Given the description of an element on the screen output the (x, y) to click on. 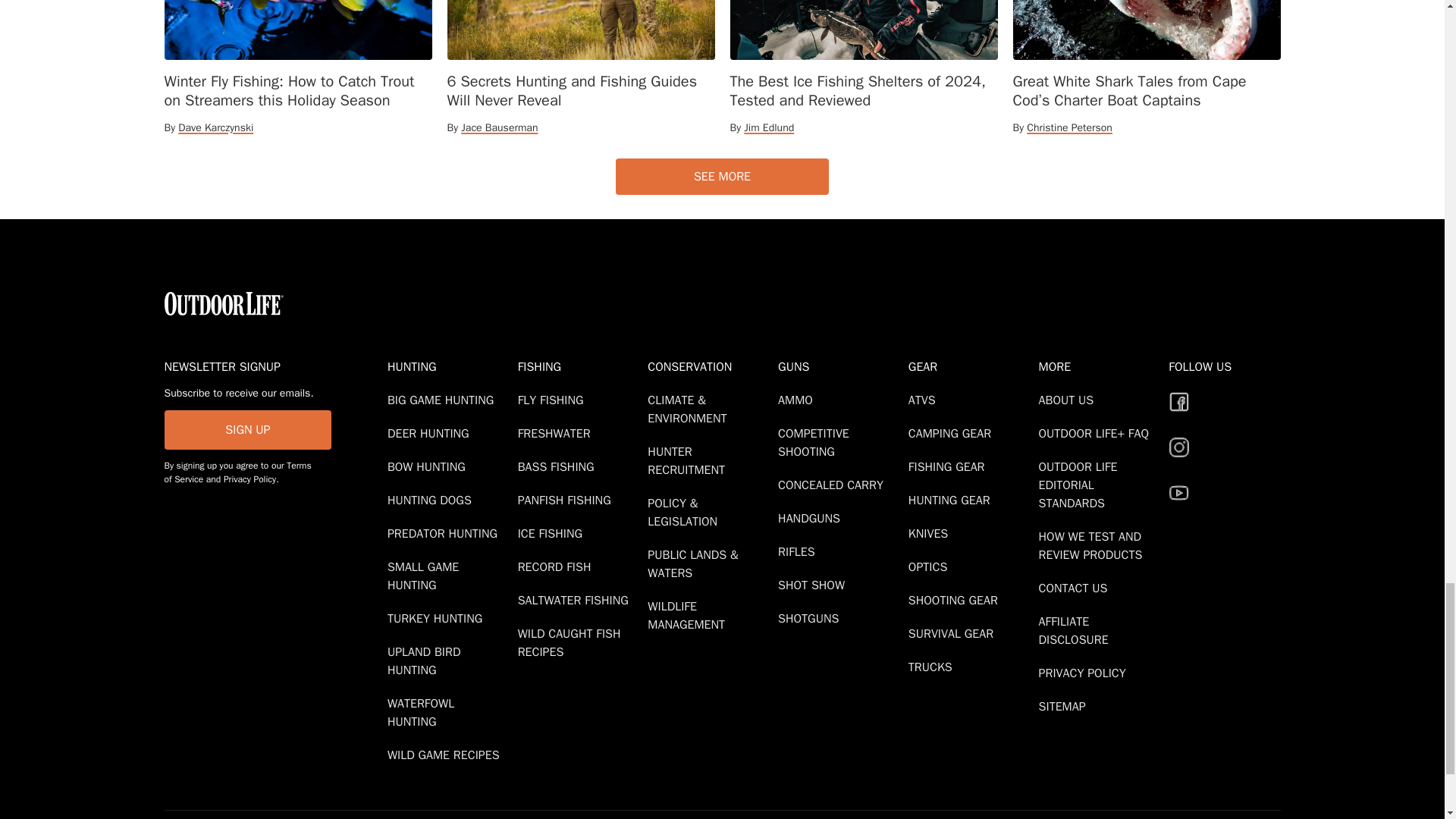
Fishing (580, 366)
Big Game Hunting (443, 400)
Hunting (449, 366)
Deer Hunting (431, 433)
Conservation (709, 366)
Fly Fishing (553, 400)
